Given the description of an element on the screen output the (x, y) to click on. 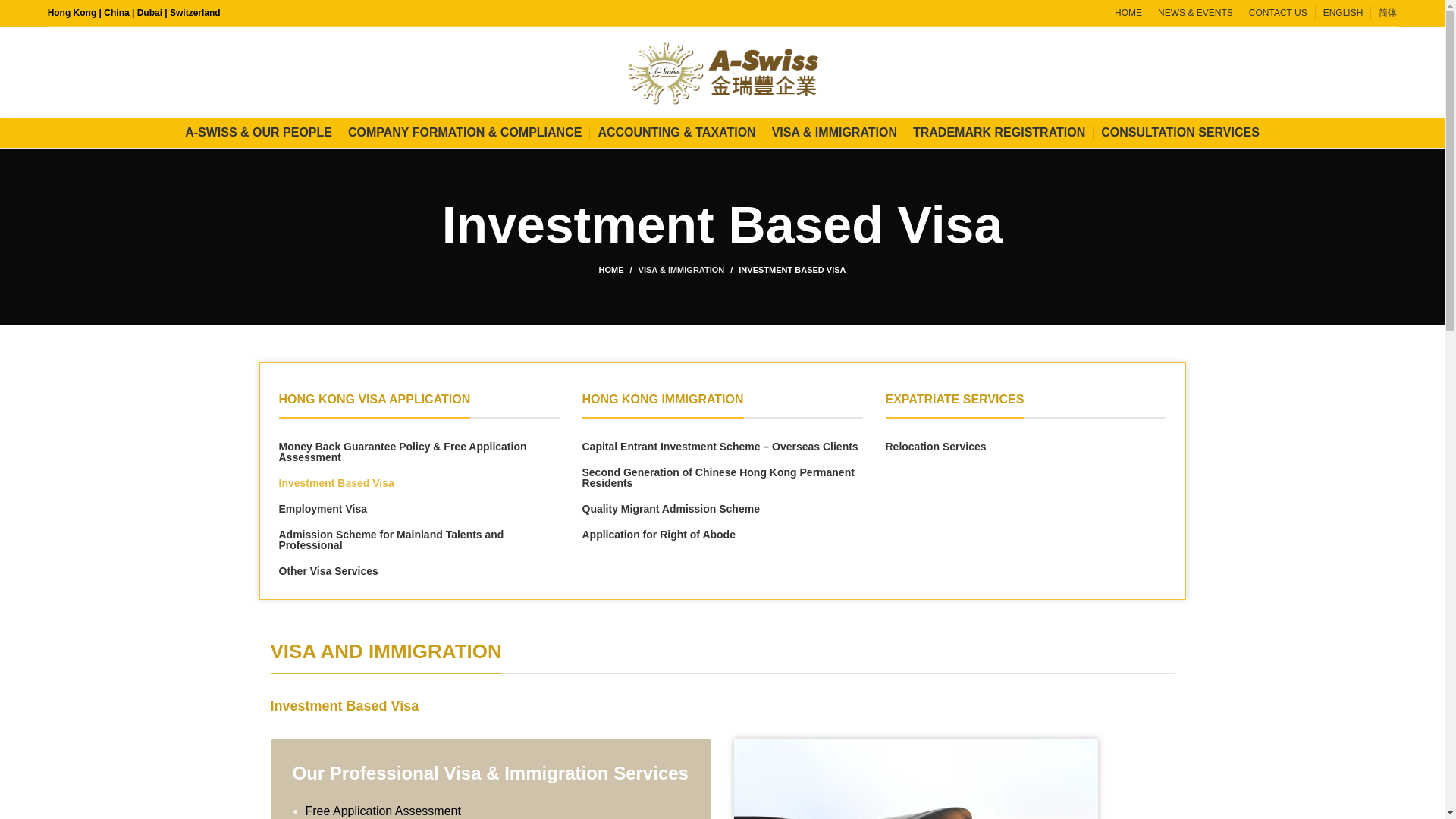
CONTACT US (1278, 13)
a048 (915, 778)
CONSULTATION SERVICES (1179, 132)
Employment Visa (419, 508)
HOME (1128, 13)
Quality Migrant Admission Scheme (722, 508)
Other Visa Services (419, 570)
ENGLISH (1342, 13)
TRADEMARK REGISTRATION (998, 132)
Relocation Services (1025, 446)
Investment Based Visa (419, 482)
English (1342, 13)
Application for Right of Abode (722, 534)
HOME (618, 269)
Second Generation of Chinese Hong Kong Permanent Residents (722, 477)
